Given the description of an element on the screen output the (x, y) to click on. 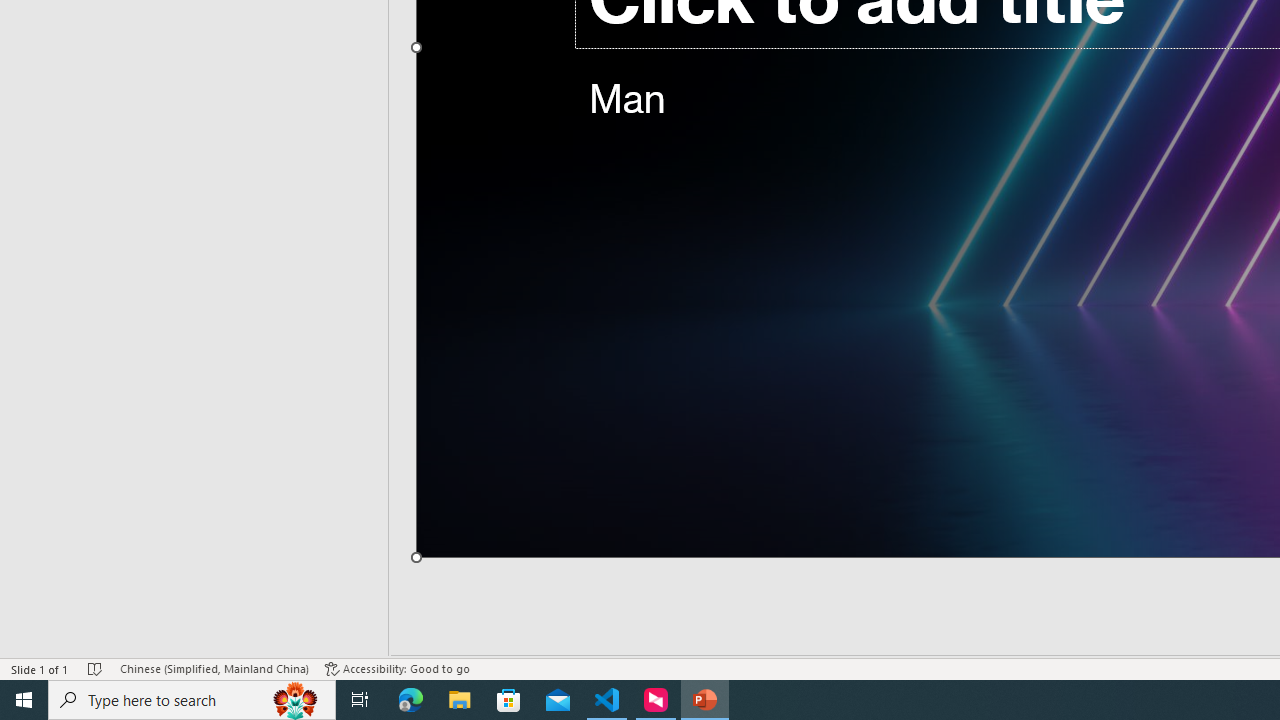
Accessibility Checker Accessibility: Good to go (397, 668)
